Given the description of an element on the screen output the (x, y) to click on. 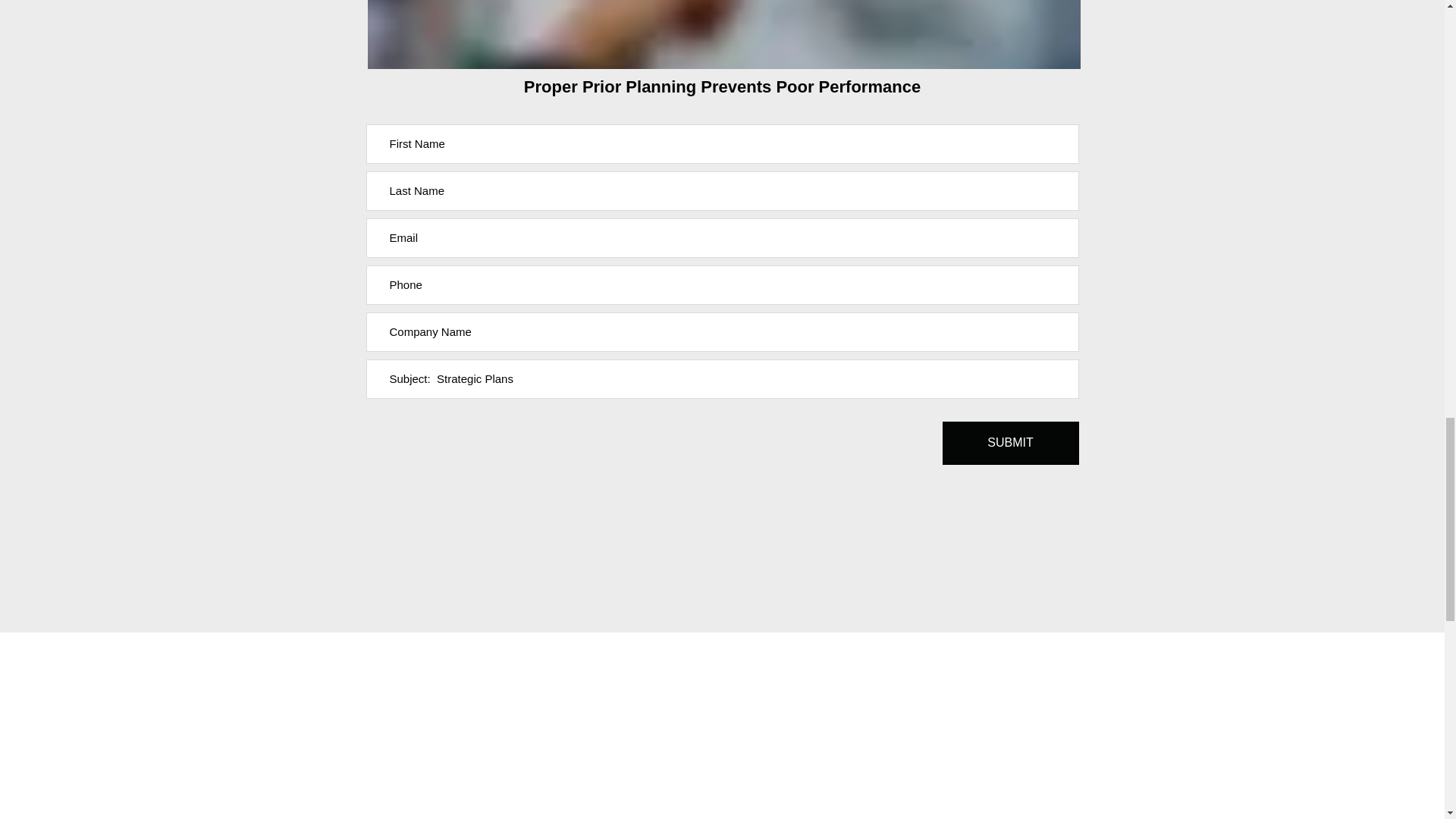
SUBMIT (1010, 443)
